Given the description of an element on the screen output the (x, y) to click on. 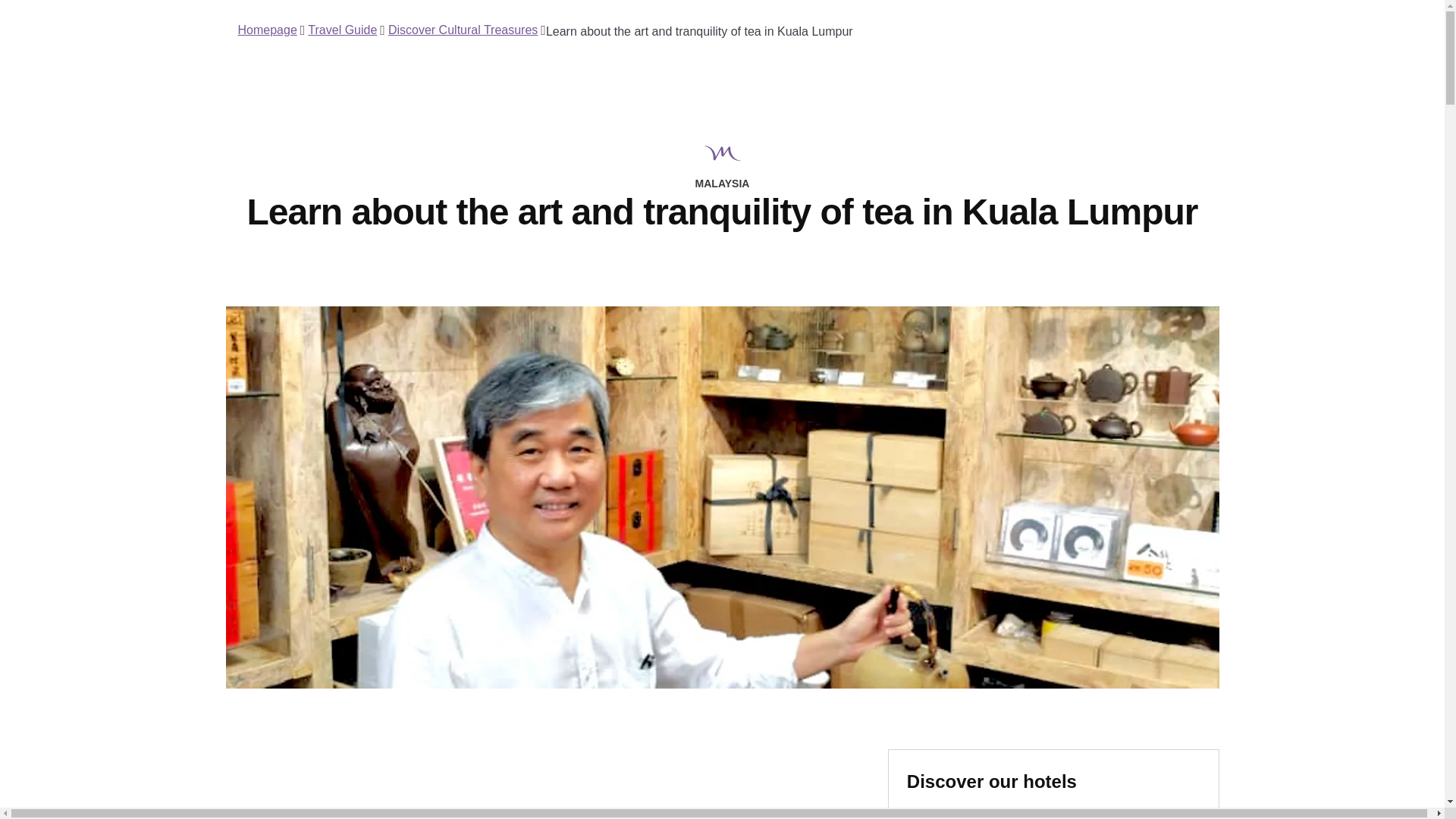
Homepage (266, 30)
Book now (952, 813)
Discover Cultural Treasures (462, 30)
Travel Guide (342, 30)
